Given the description of an element on the screen output the (x, y) to click on. 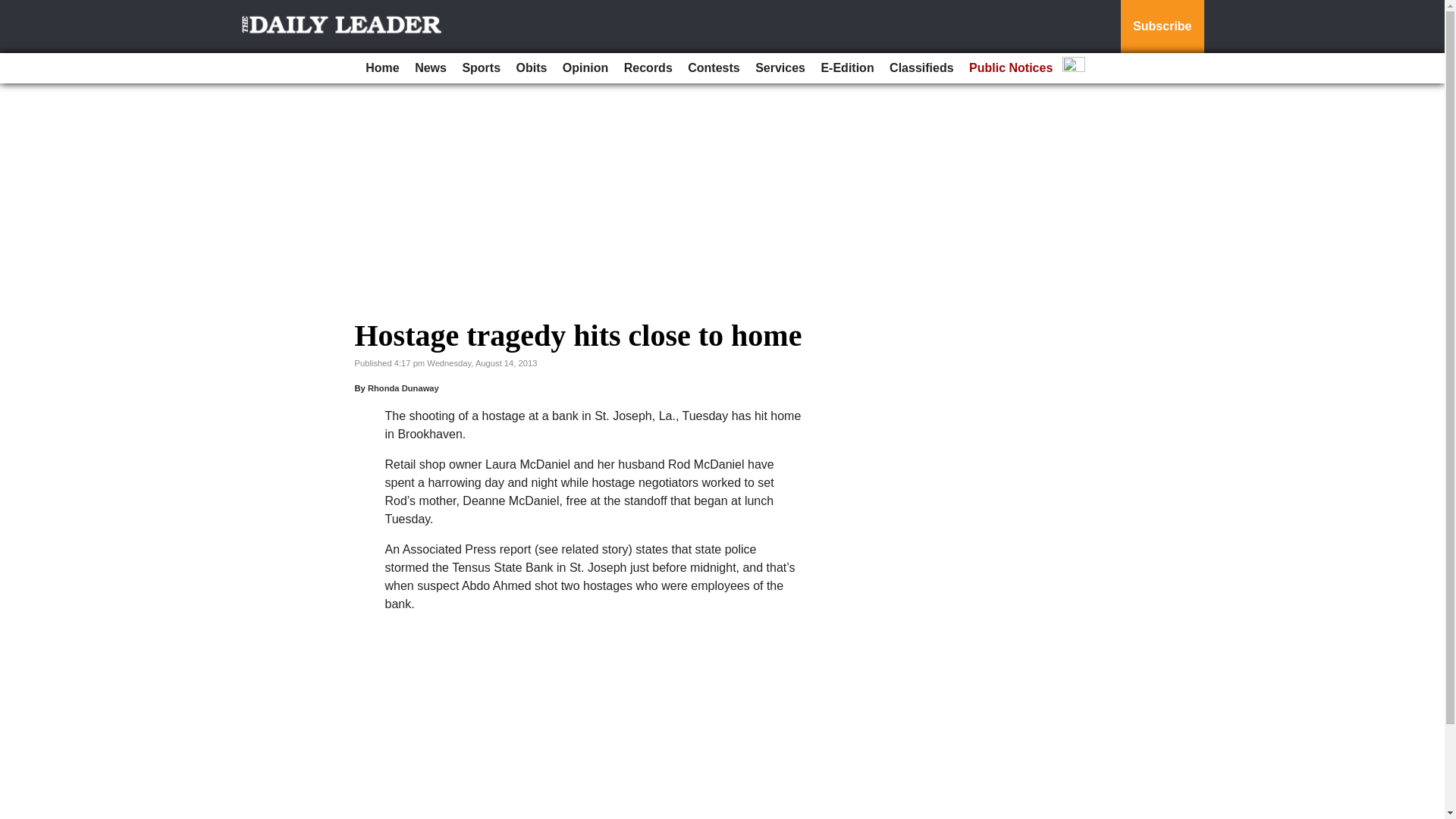
Records (647, 68)
Subscribe (1162, 26)
Go (13, 9)
News (430, 68)
Opinion (585, 68)
E-Edition (846, 68)
Services (779, 68)
Home (381, 68)
Obits (532, 68)
Classifieds (921, 68)
